Given the description of an element on the screen output the (x, y) to click on. 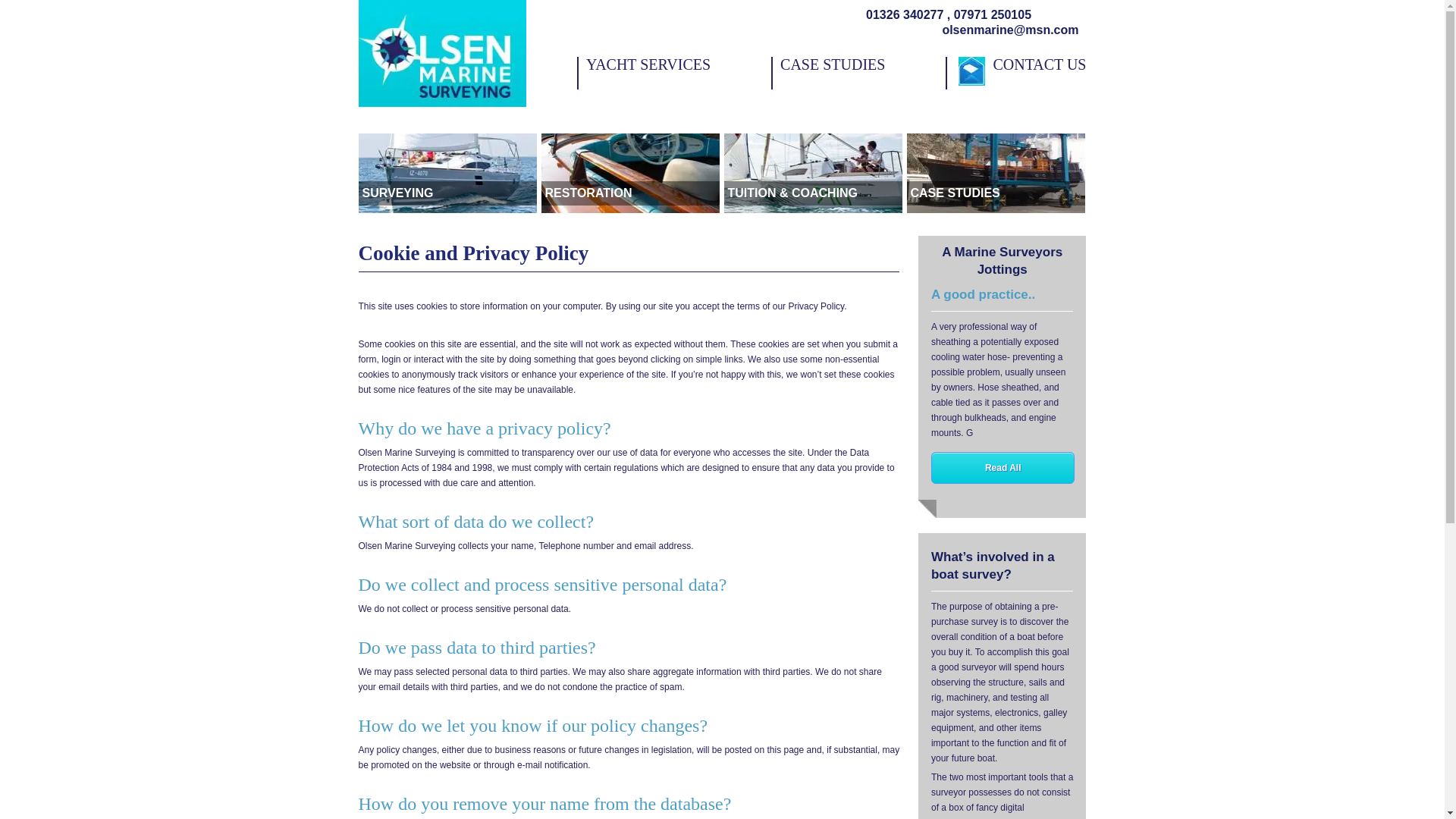
A good practice.. (857, 72)
RESTORATION (983, 294)
SURVEYING (630, 172)
CASE STUDIES (446, 172)
A good practice.. (1015, 72)
Read All (995, 172)
